Given the description of an element on the screen output the (x, y) to click on. 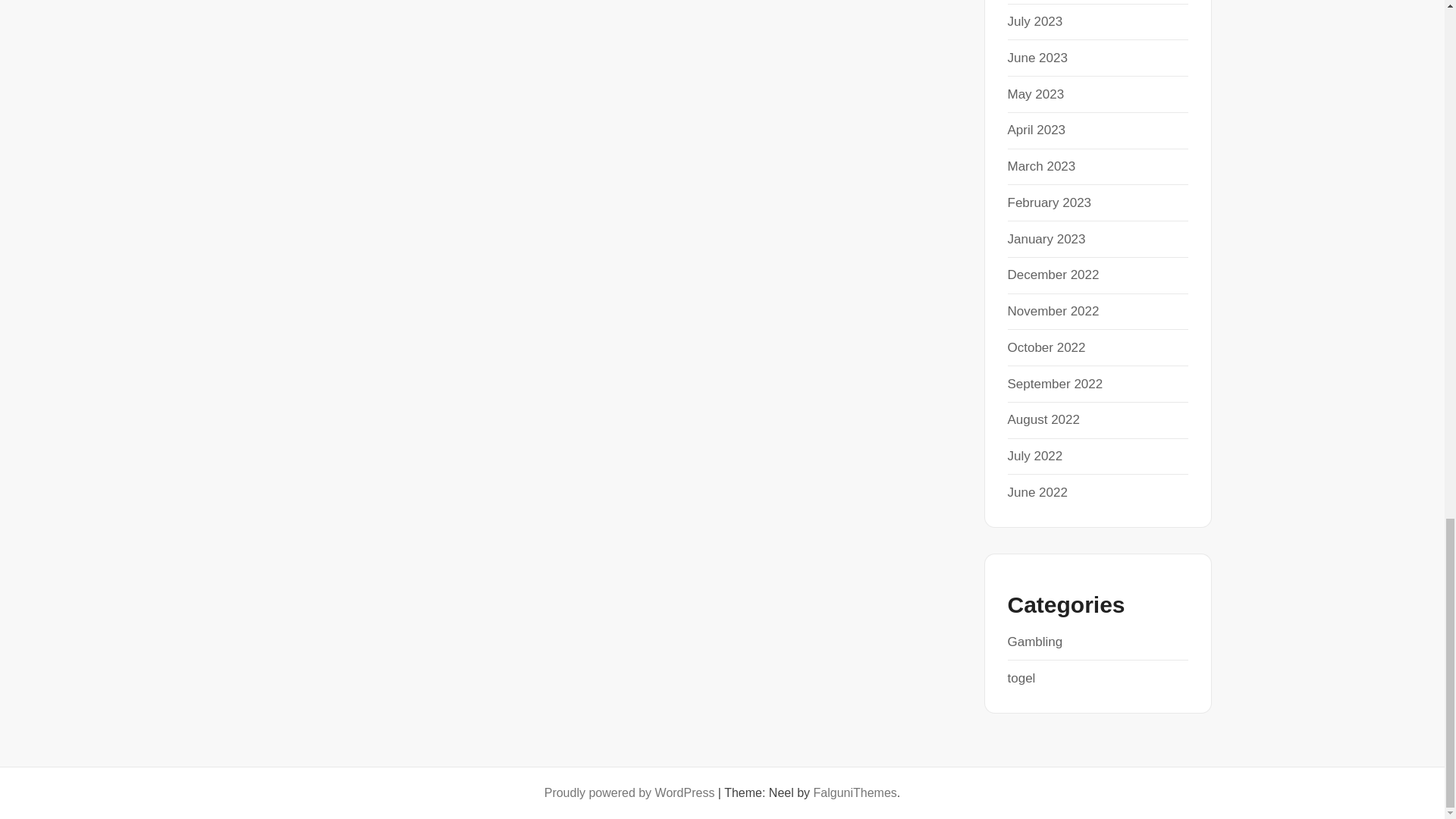
March 2023 (1041, 165)
February 2023 (1048, 202)
April 2023 (1036, 129)
May 2023 (1035, 93)
June 2023 (1037, 57)
July 2023 (1034, 21)
